Given the description of an element on the screen output the (x, y) to click on. 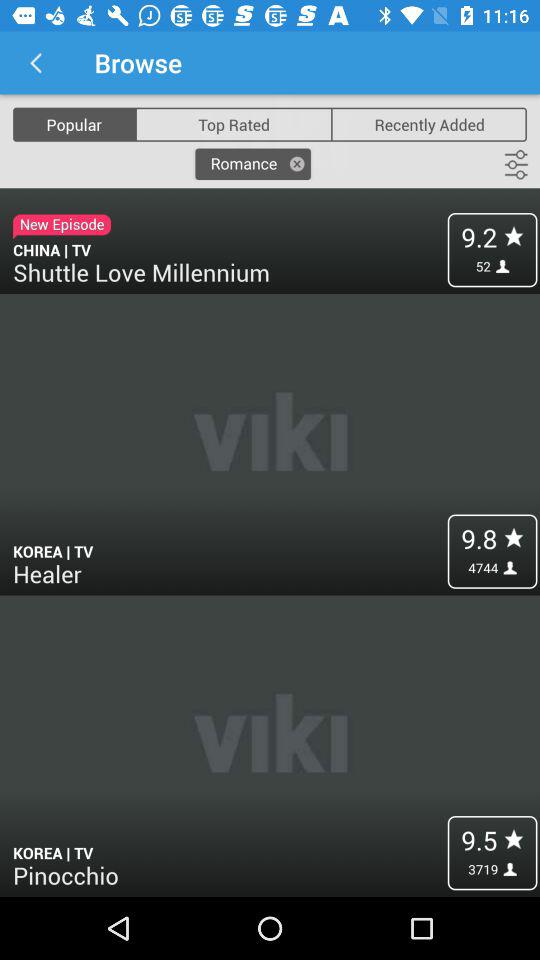
open the icon above china | tv (252, 164)
